Given the description of an element on the screen output the (x, y) to click on. 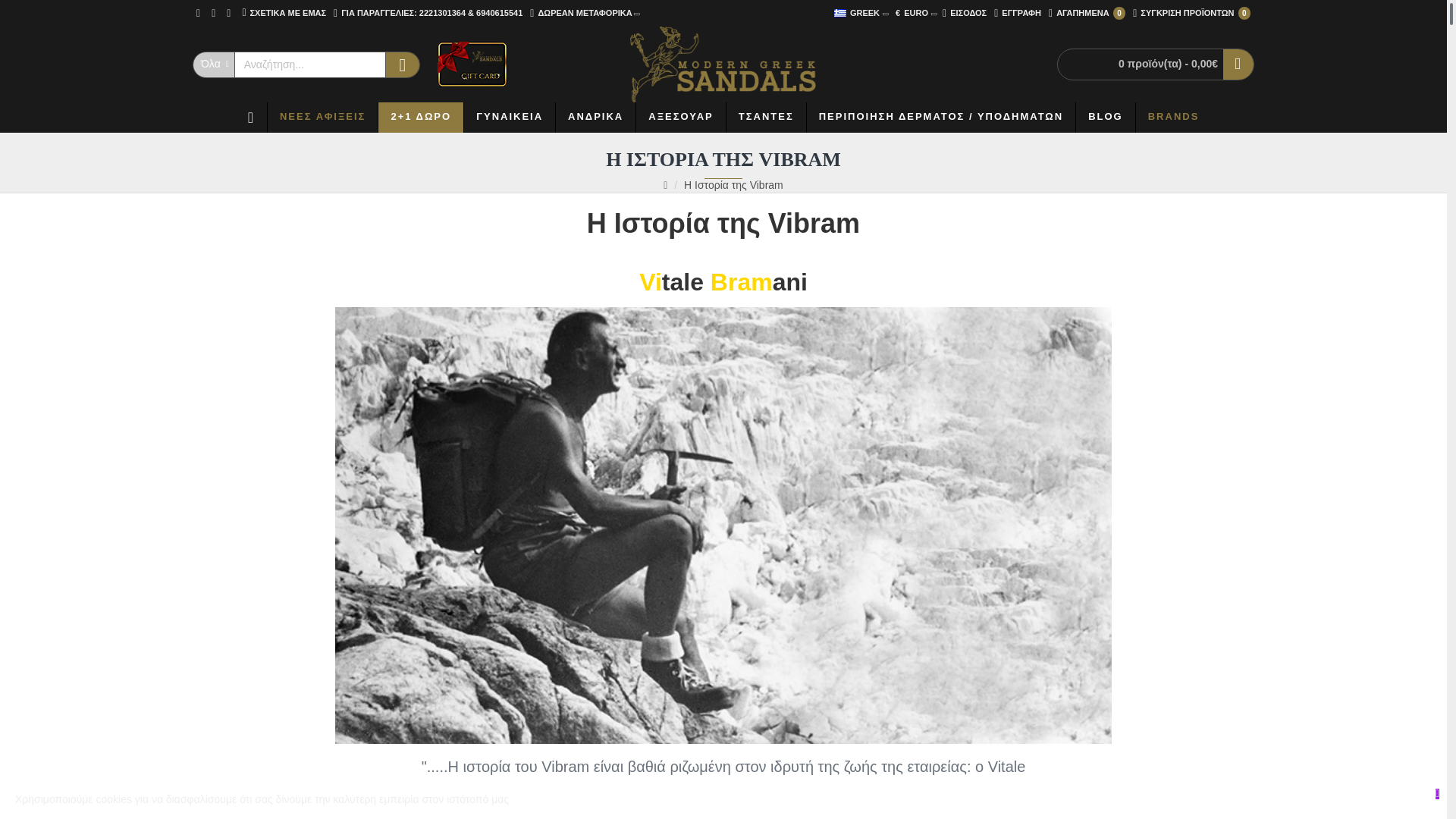
Modern Greek Sandals (723, 64)
Greek (839, 13)
GREEK (856, 13)
